Given the description of an element on the screen output the (x, y) to click on. 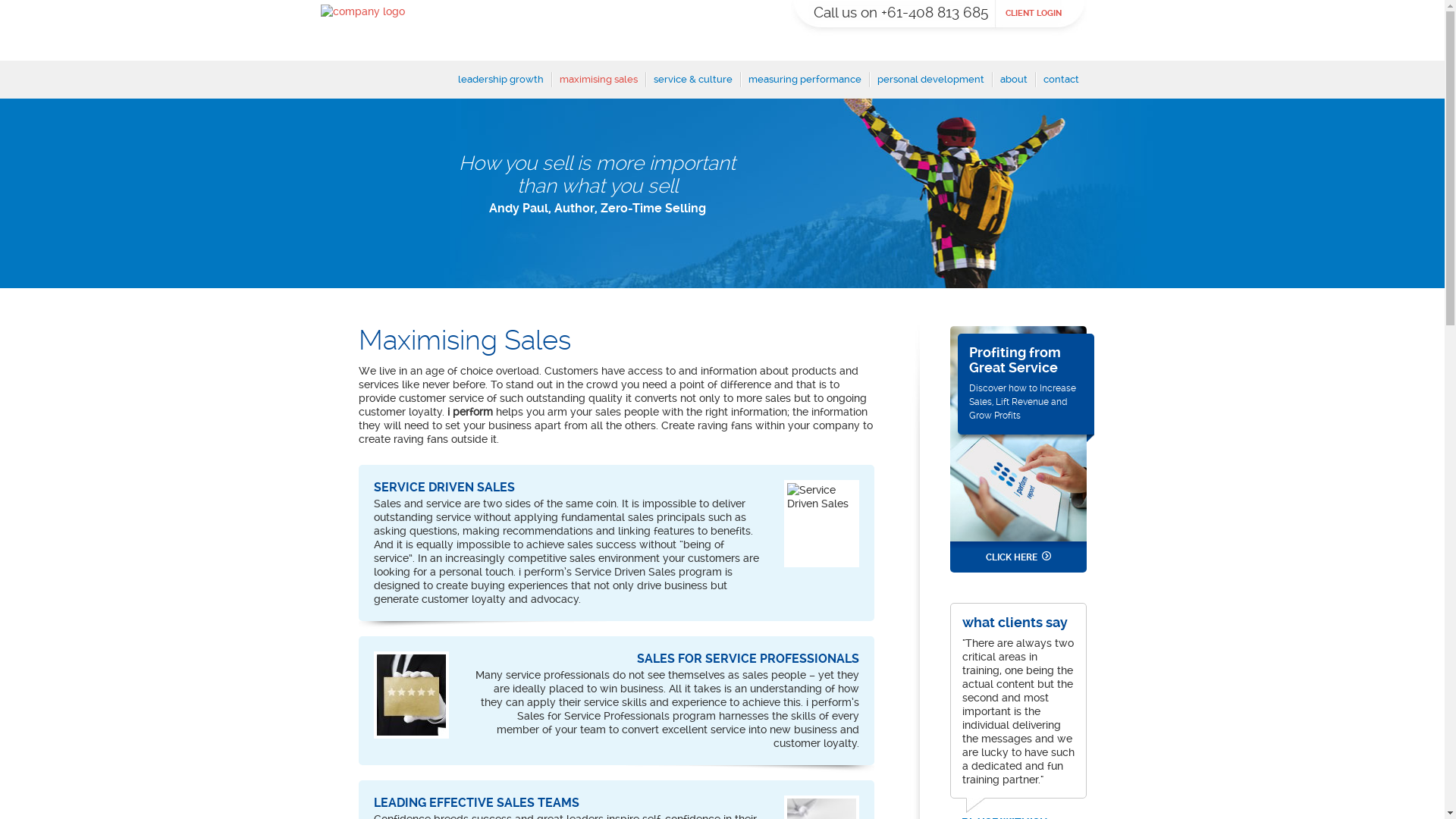
service & culture Element type: text (692, 85)
leadership growth Element type: text (500, 85)
personal development Element type: text (929, 85)
measuring performance Element type: text (803, 85)
about Element type: text (1012, 85)
contact Element type: text (1061, 85)
CLICK HERE Element type: text (1017, 556)
maximising sales Element type: text (598, 85)
